Given the description of an element on the screen output the (x, y) to click on. 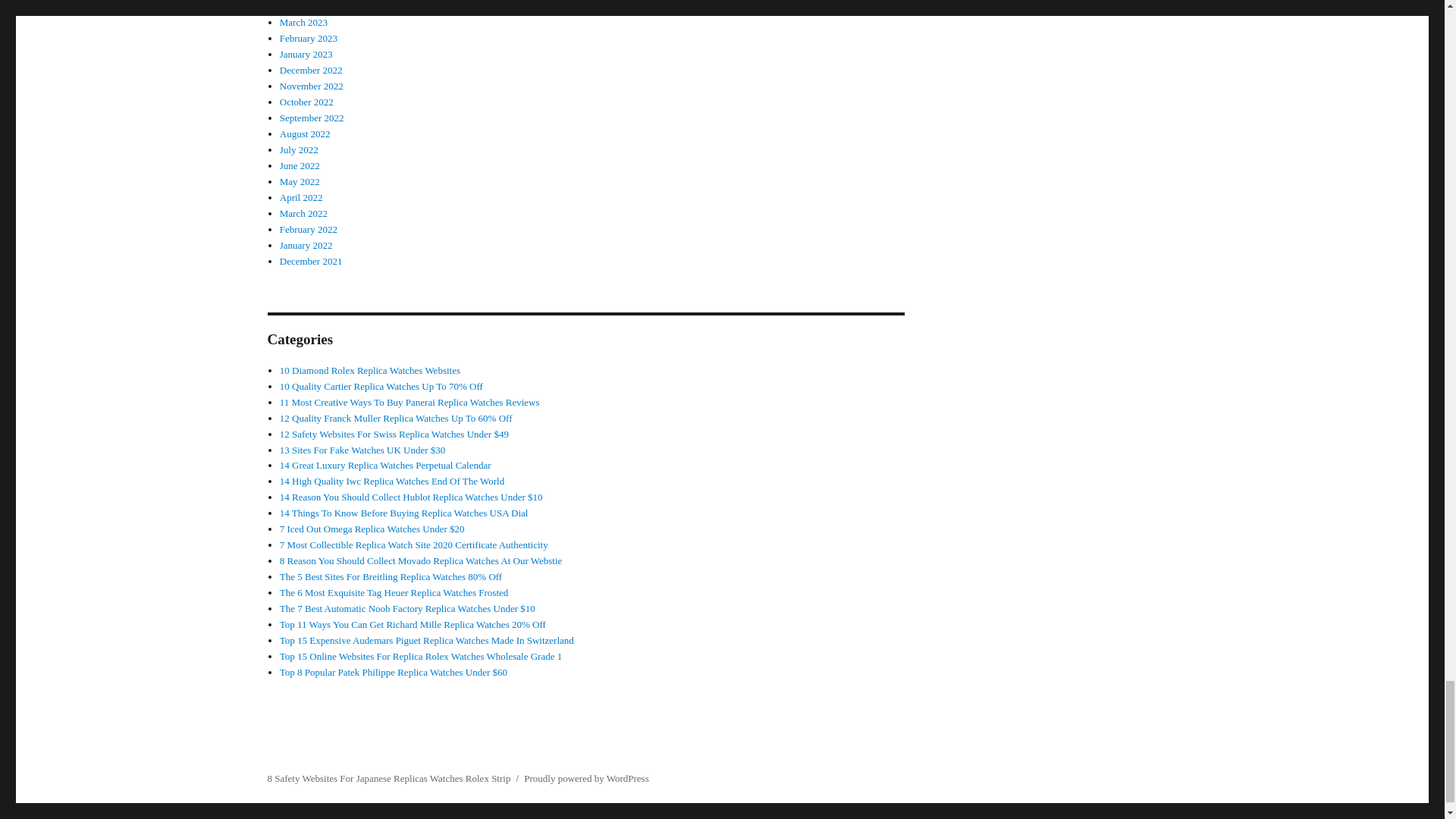
February 2023 (308, 38)
September 2022 (311, 117)
November 2022 (311, 85)
March 2023 (303, 21)
December 2022 (310, 70)
January 2023 (306, 53)
October 2022 (306, 101)
April 2023 (301, 6)
